Given the description of an element on the screen output the (x, y) to click on. 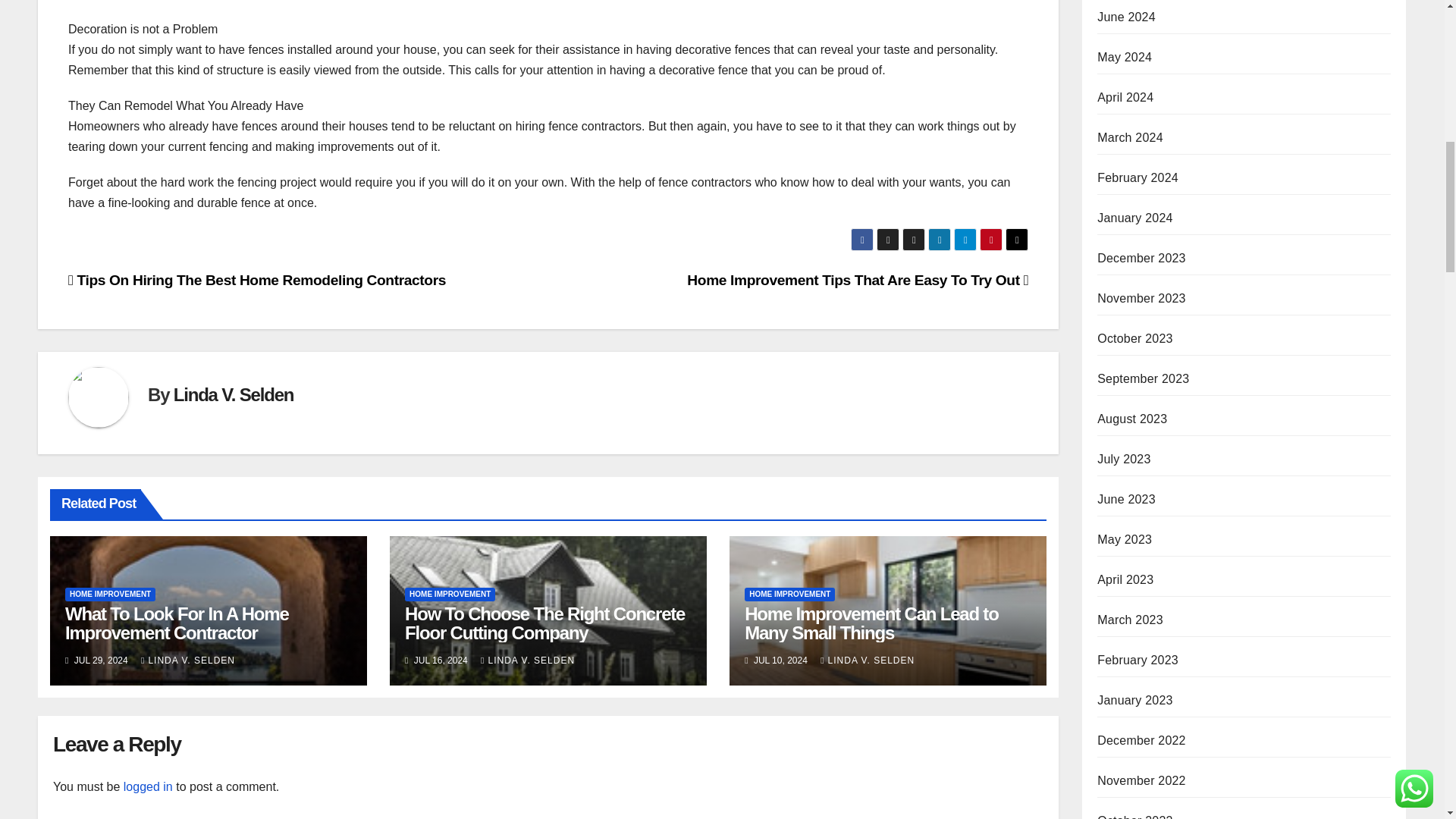
Home Improvement Tips That Are Easy To Try Out (857, 279)
Tips On Hiring The Best Home Remodeling Contractors (256, 279)
Linda V. Selden (233, 394)
